Given the description of an element on the screen output the (x, y) to click on. 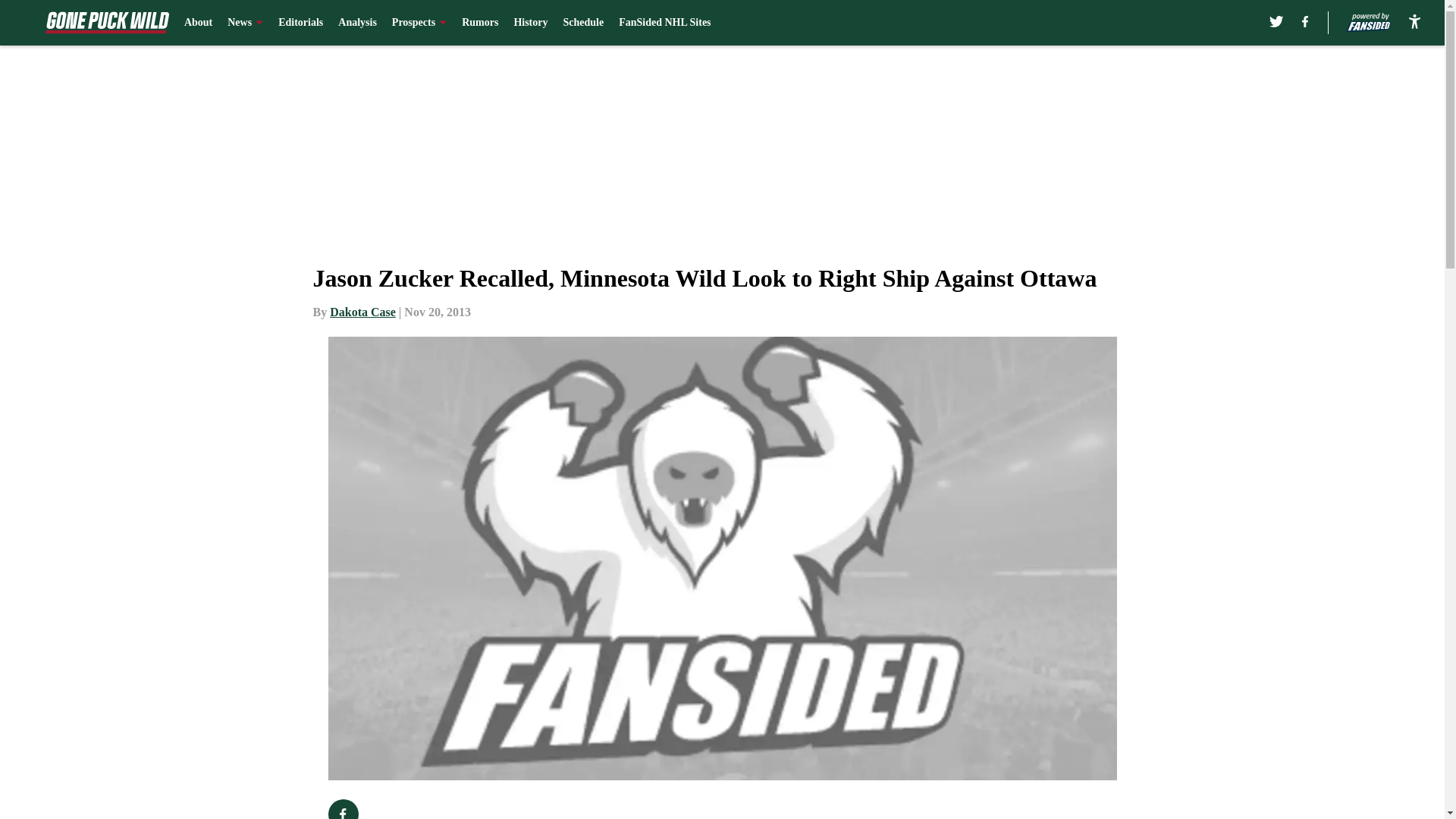
Editorials (300, 22)
History (530, 22)
Schedule (583, 22)
Analysis (357, 22)
About (198, 22)
FanSided NHL Sites (664, 22)
Rumors (479, 22)
Dakota Case (363, 311)
